Given the description of an element on the screen output the (x, y) to click on. 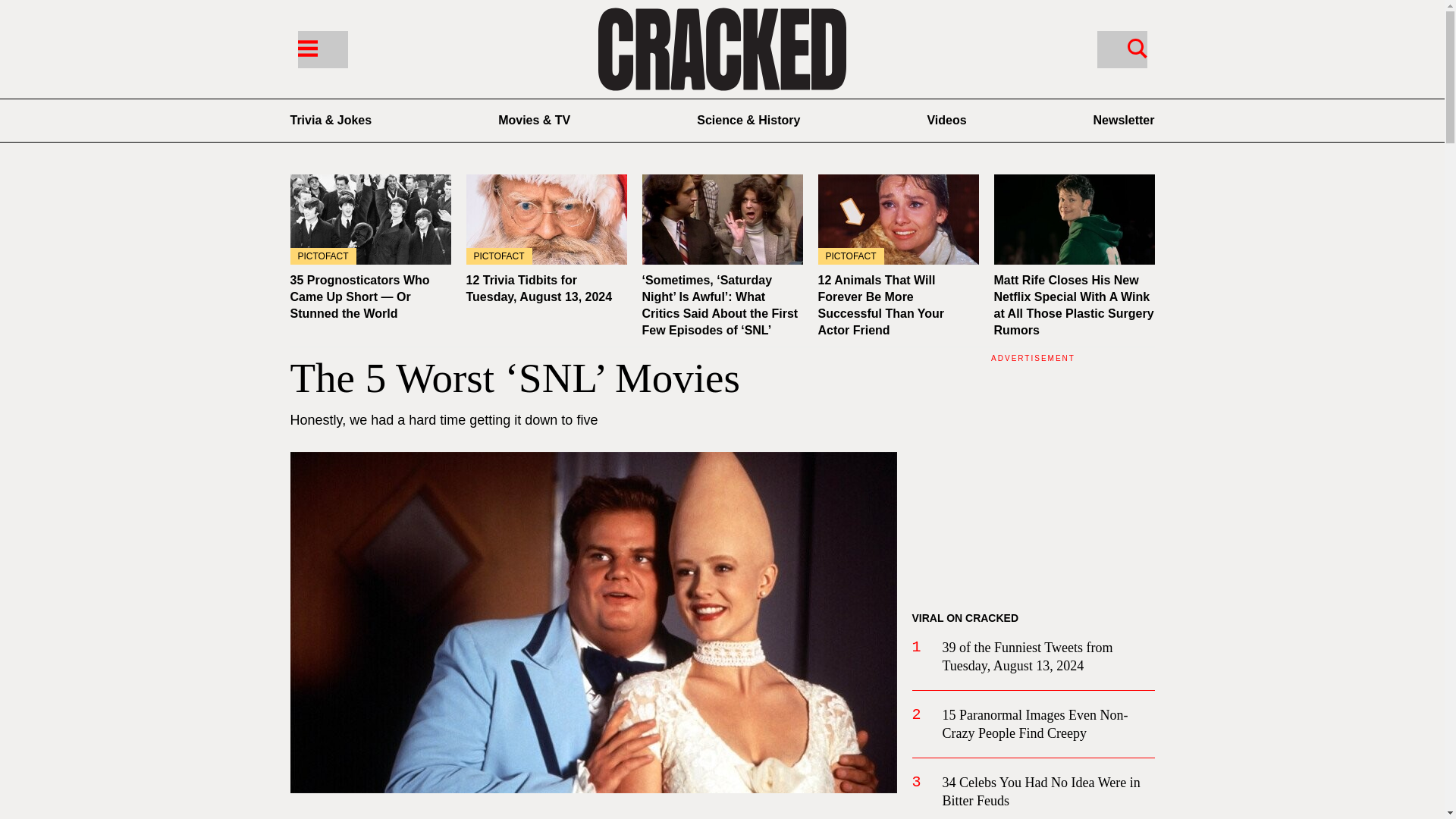
PICTOFACT (545, 219)
12 Trivia Tidbits for Tuesday, August 13, 2024 (545, 219)
Videos (946, 119)
PICTOFACT (369, 219)
Menu (307, 47)
Newsletter (1123, 119)
PICTOFACT (897, 219)
Menu (322, 48)
